Given the description of an element on the screen output the (x, y) to click on. 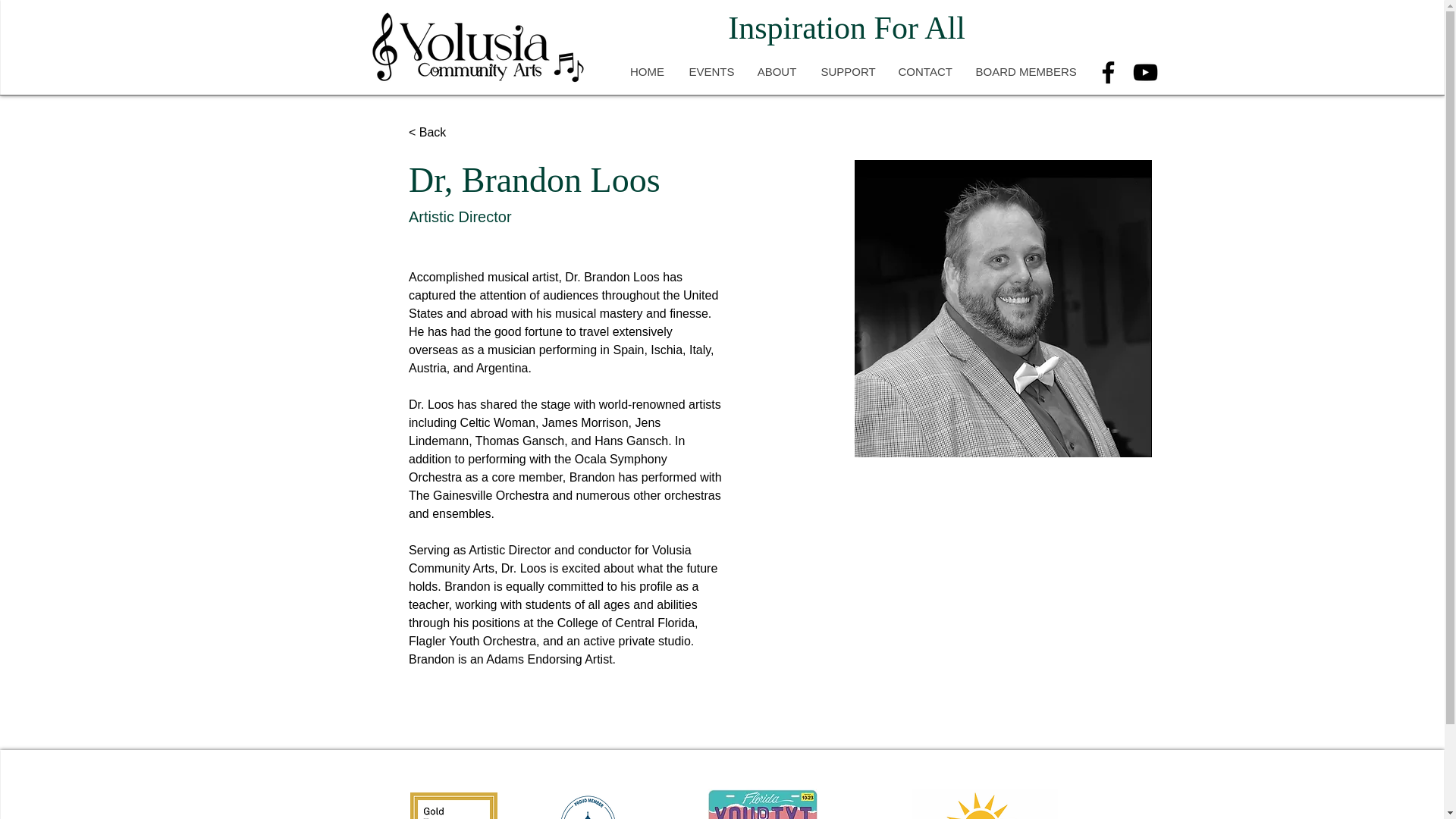
CONTACT (923, 71)
VolusiaCountyLogo.png (984, 803)
EVENTS (710, 71)
A-Brandon Loos.jpg (1002, 308)
ABOUT (776, 71)
SUPPORT (846, 71)
BOARD MEMBERS (1024, 71)
HOME (647, 71)
